Given the description of an element on the screen output the (x, y) to click on. 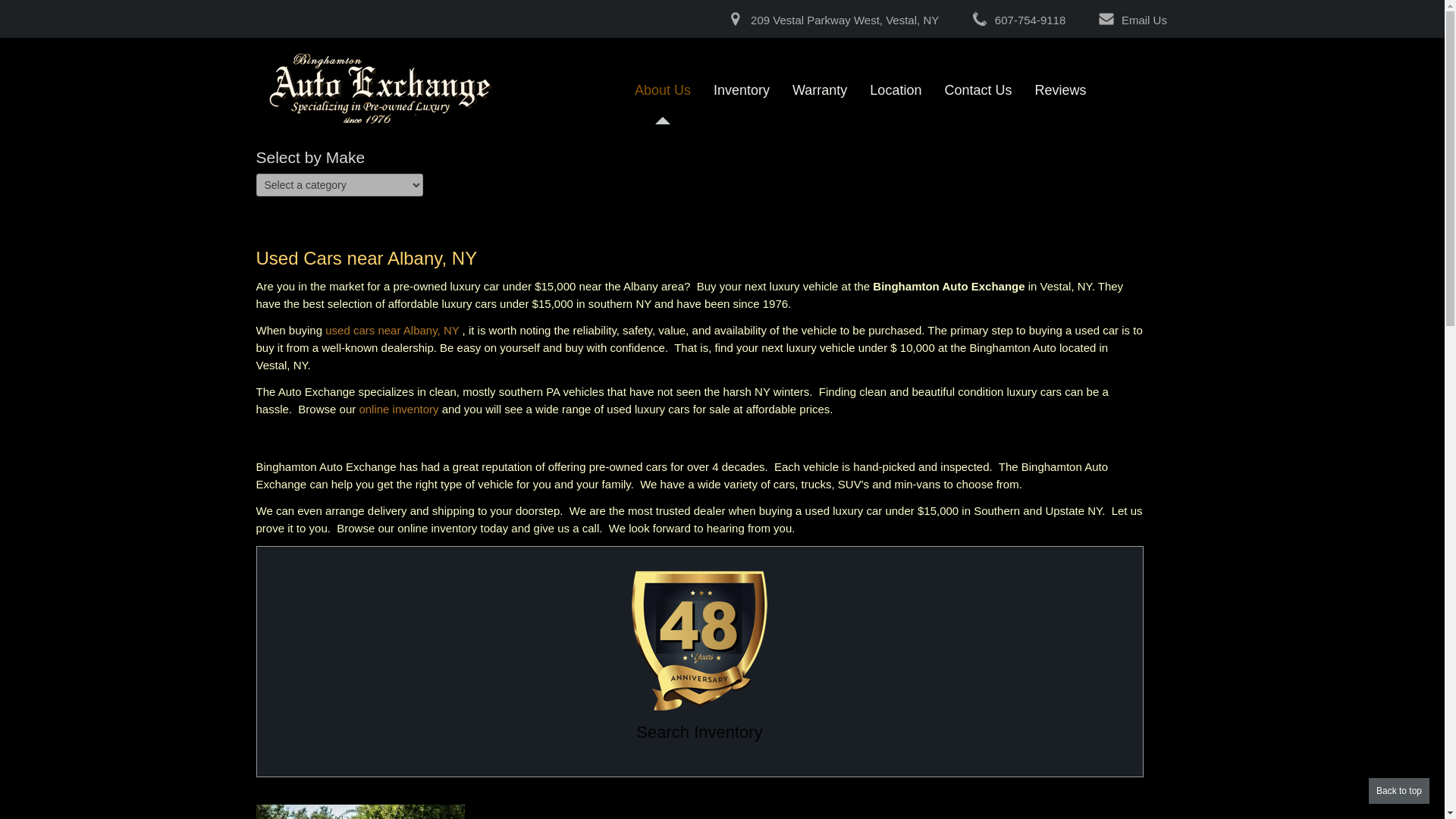
Binghamton Auto Exchange, inc (662, 82)
